Given the description of an element on the screen output the (x, y) to click on. 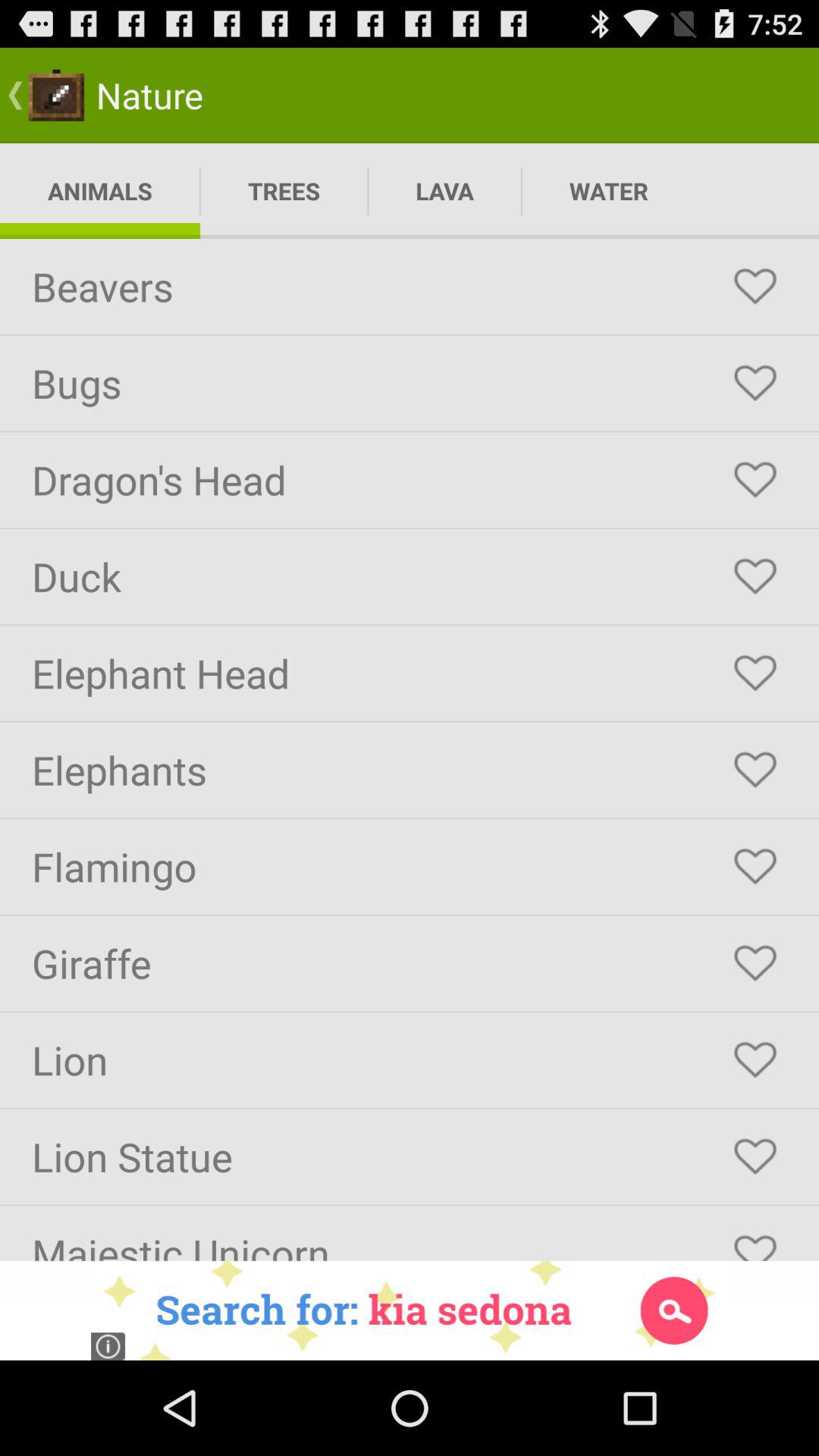
like button (755, 673)
